Given the description of an element on the screen output the (x, y) to click on. 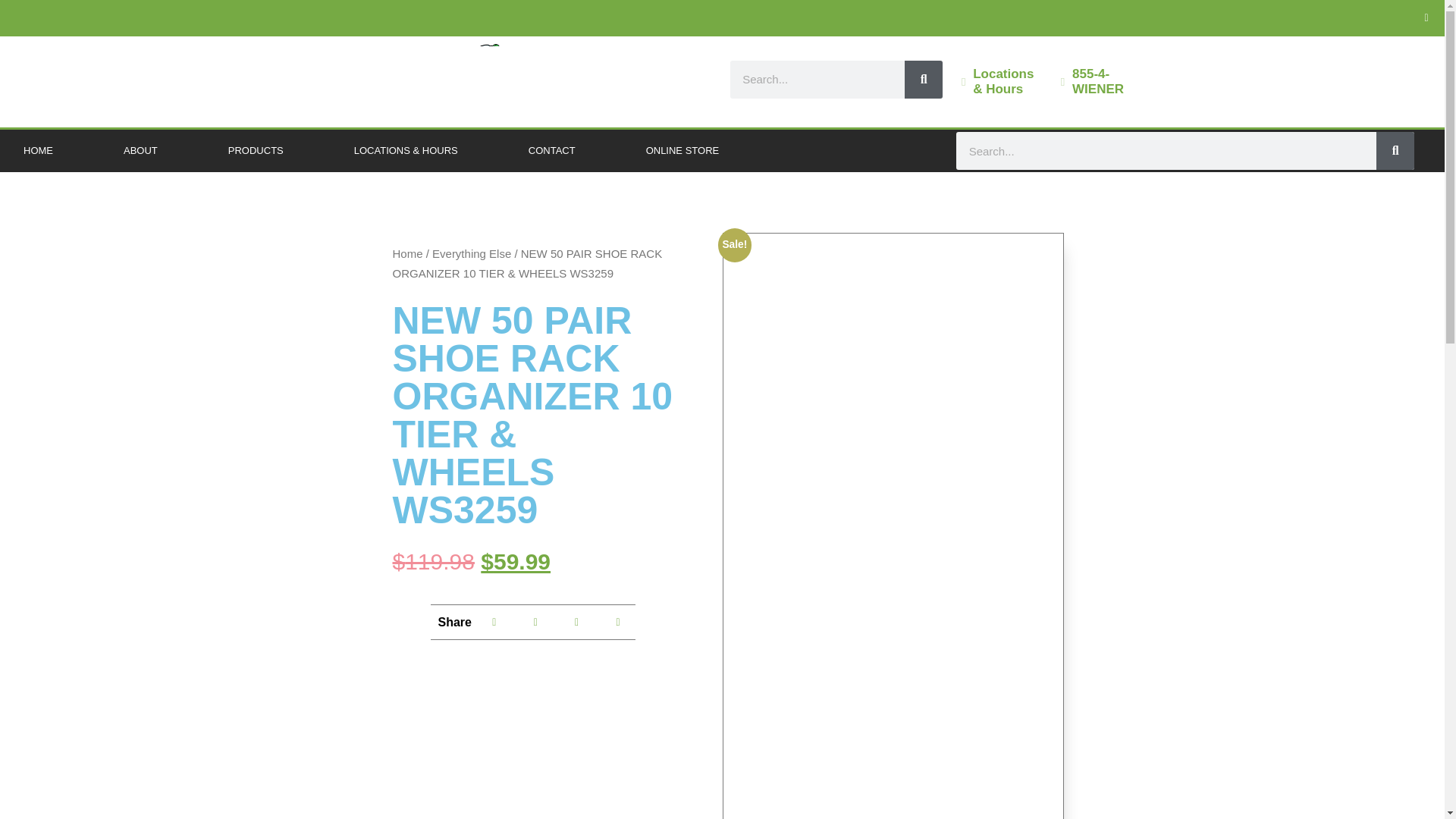
PRODUCTS (256, 150)
CONTACT (551, 150)
855-4-WIENER (1097, 81)
Everything Else (471, 253)
Home (408, 253)
HOME (38, 150)
ONLINE STORE (682, 150)
ABOUT (140, 150)
